Given the description of an element on the screen output the (x, y) to click on. 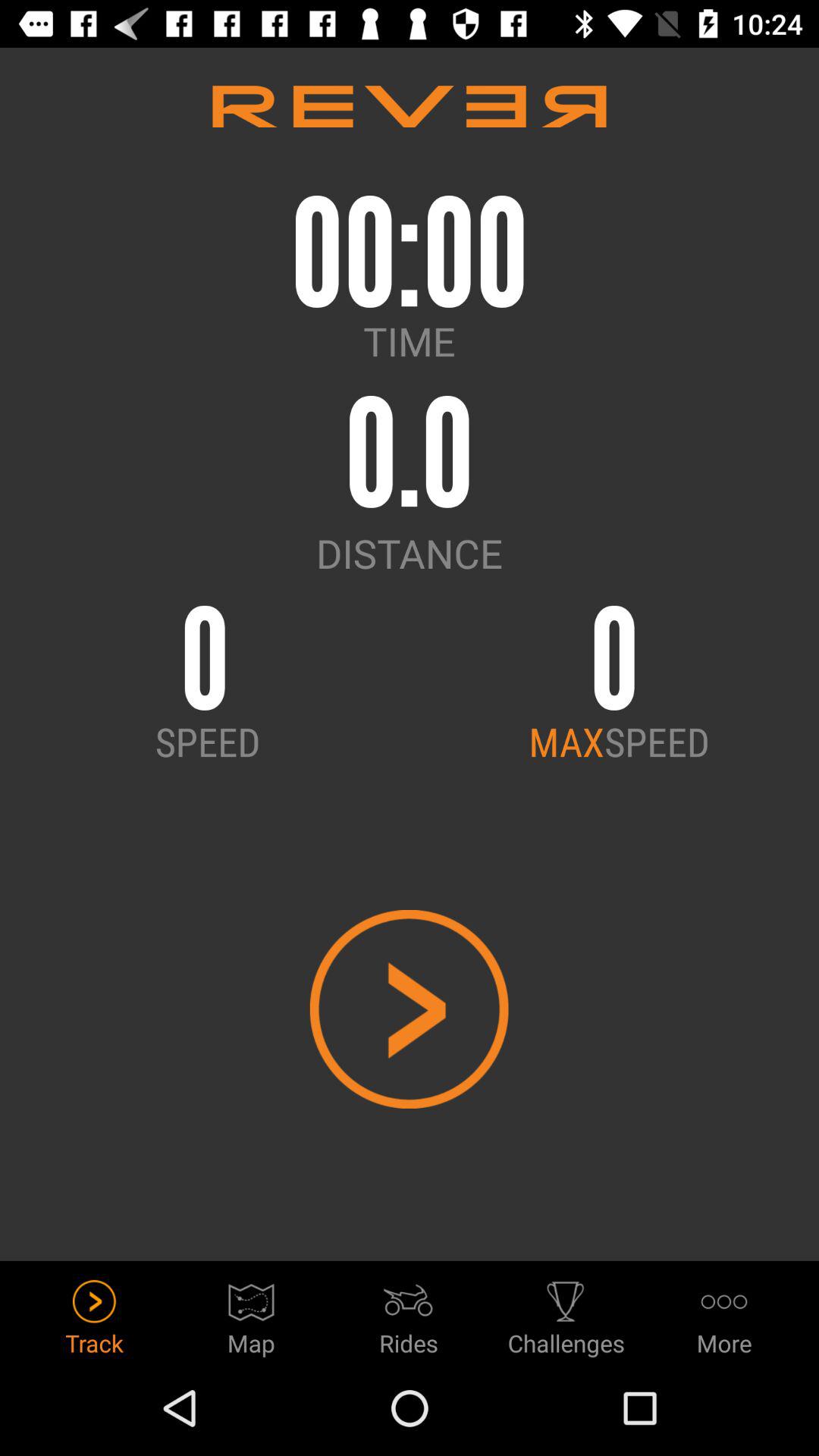
swipe to the more icon (724, 1313)
